Given the description of an element on the screen output the (x, y) to click on. 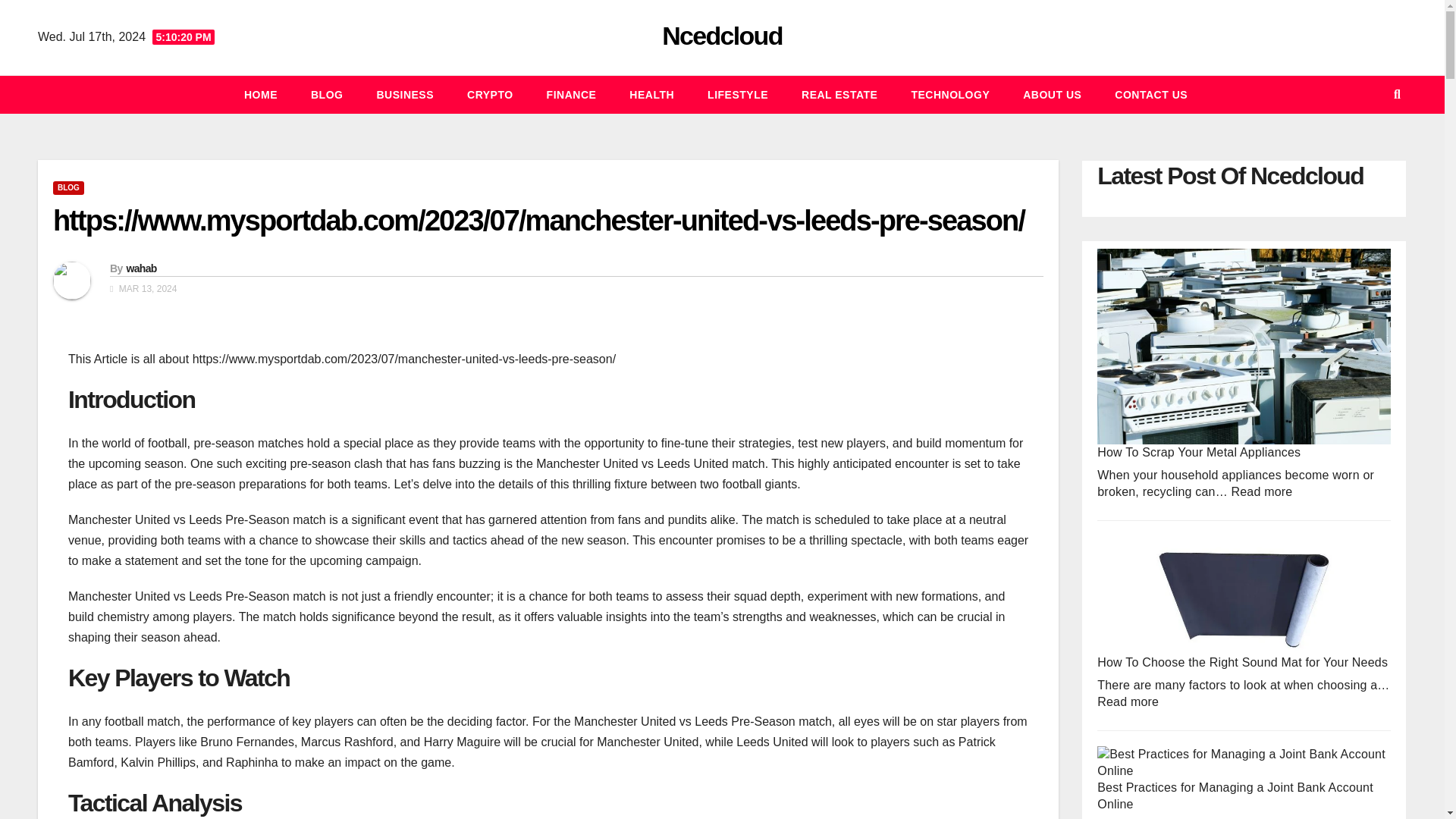
LIFESTYLE (737, 94)
BLOG (68, 187)
About Us (1051, 94)
HOME (260, 94)
BUSINESS (404, 94)
Ncedcloud (722, 35)
CONTACT US (1150, 94)
FINANCE (570, 94)
BLOG (326, 94)
ABOUT US (1051, 94)
REAL ESTATE (838, 94)
TECHNOLOGY (949, 94)
Finance (570, 94)
Crypto (489, 94)
Blog (326, 94)
